Given the description of an element on the screen output the (x, y) to click on. 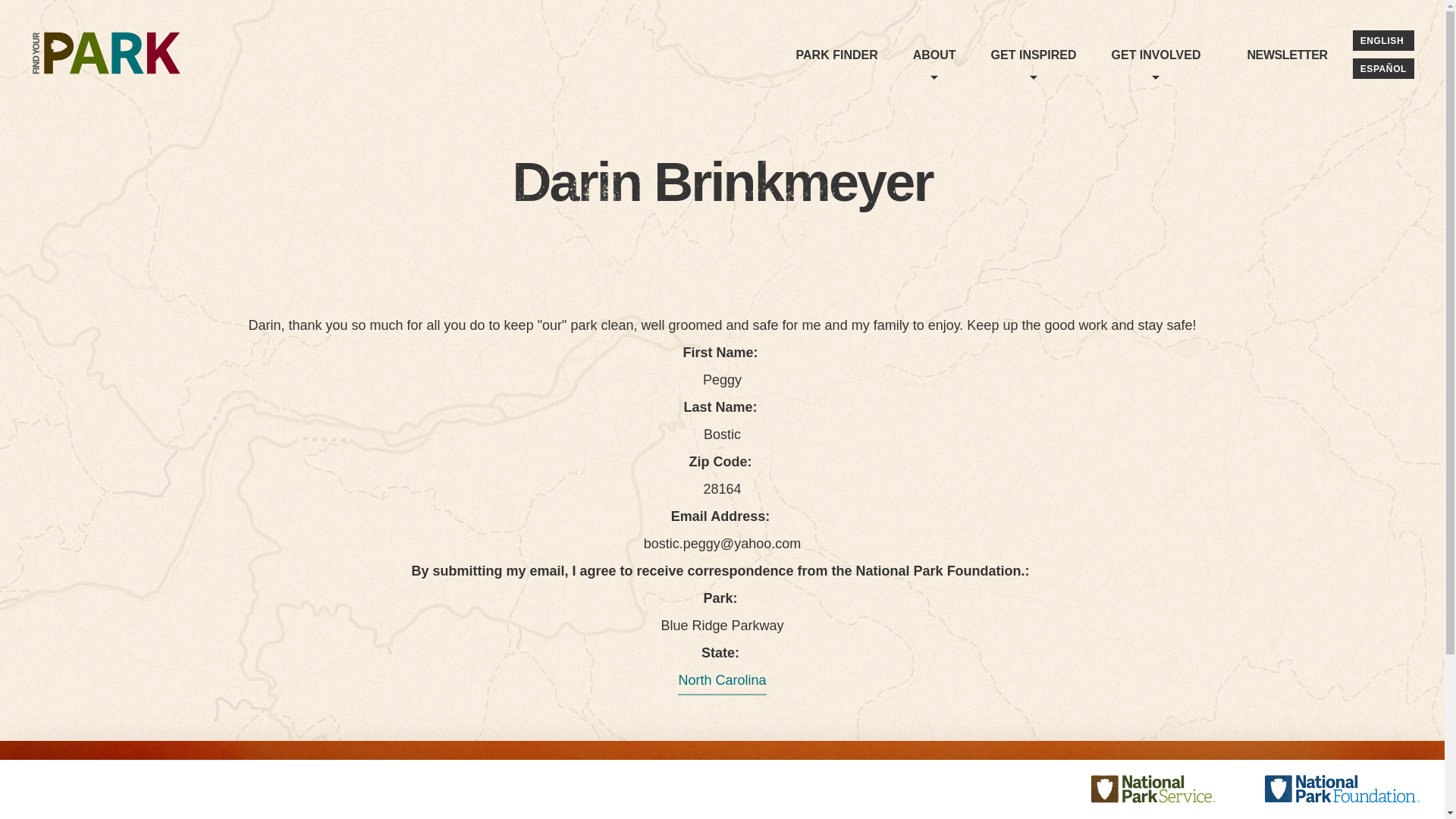
Find Your Park (106, 57)
Find Your Park (106, 57)
National Park Service (1168, 789)
Support the Parks (1092, 124)
National Park Foundation (1342, 789)
ENGLISH (1382, 40)
GET INSPIRED (1033, 54)
GET INVOLVED (1155, 54)
Park Ambassadors (968, 113)
News (867, 102)
GET THE NEWSLETTER (1251, 806)
PARK FINDER (1286, 54)
North Carolina (837, 54)
ABOUT (721, 680)
